Given the description of an element on the screen output the (x, y) to click on. 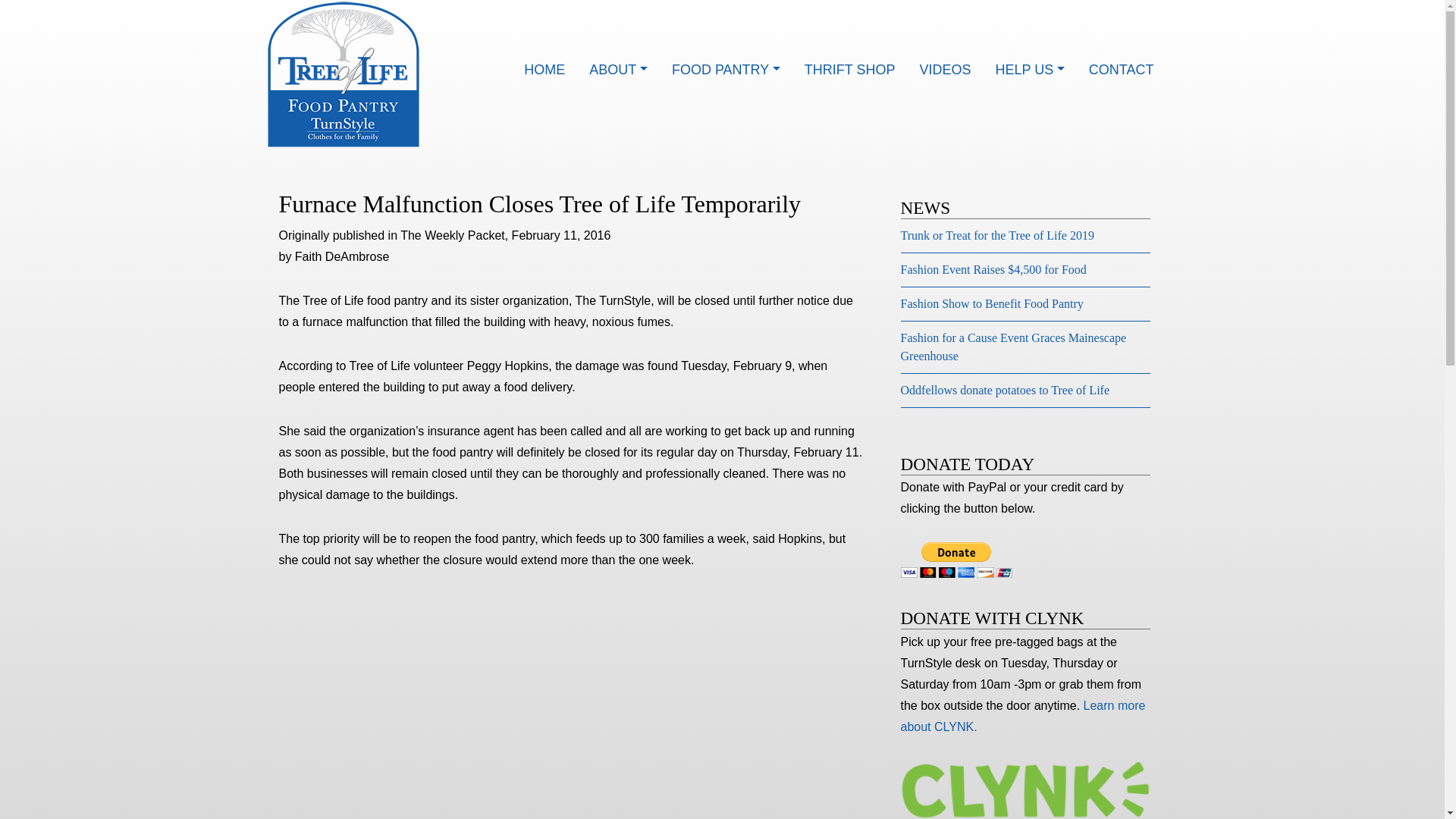
HOME (544, 71)
HELP US (1030, 71)
Trunk or Treat for the Tree of Life 2019 (997, 235)
THRIFT SHOP (849, 71)
FOOD PANTRY (725, 71)
Trunk or Treat for the Tree of Life 2019 (997, 235)
Fashion for a Cause Event Graces Mainescape Greenhouse (1013, 346)
Oddfellows donate potatoes to Tree of Life (1005, 390)
ABOUT (617, 71)
Oddfellows donate potatoes to Tree of Life (1005, 390)
